Given the description of an element on the screen output the (x, y) to click on. 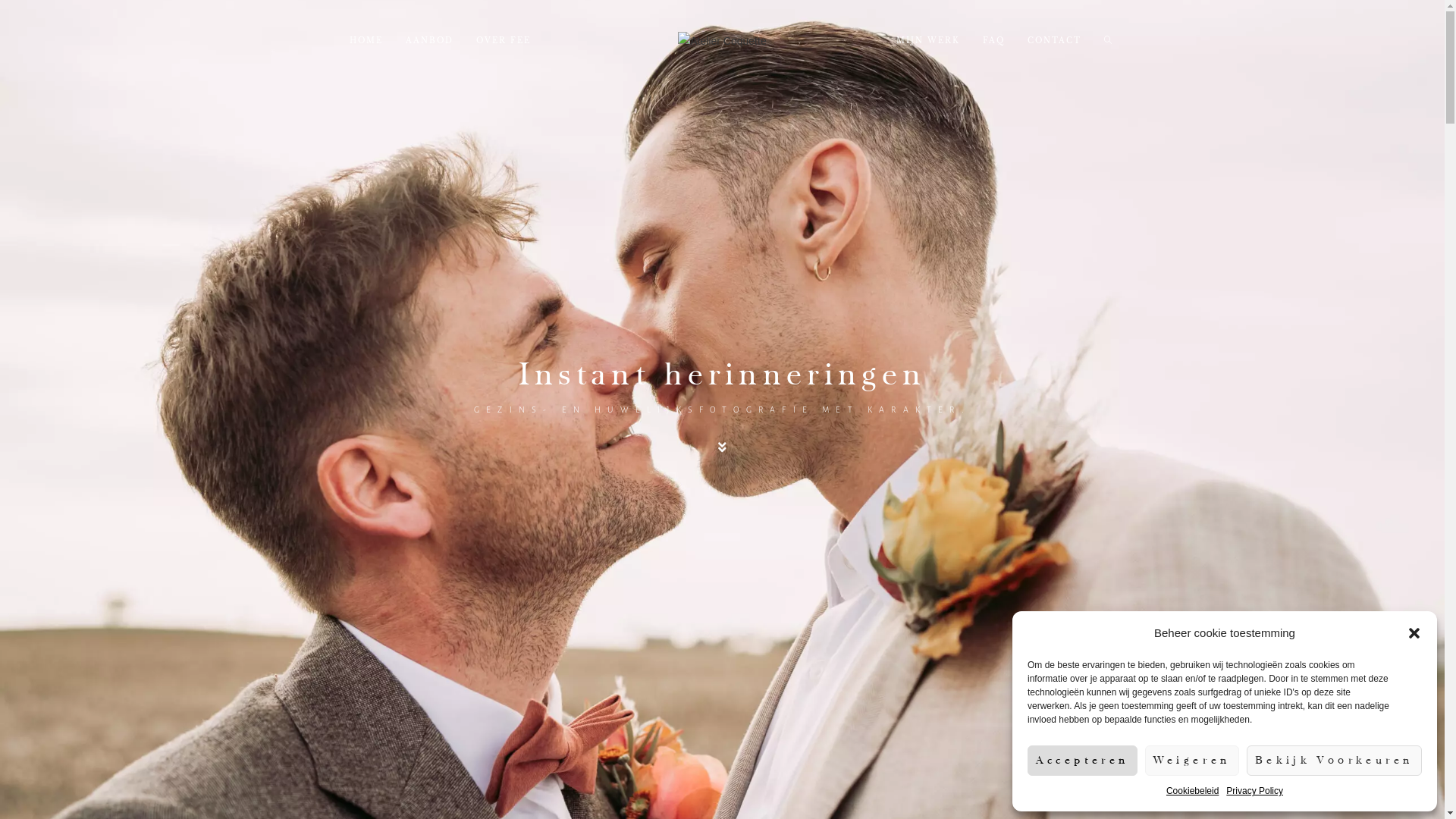
Accepteren Element type: text (1082, 760)
AANBOD Element type: text (429, 40)
Weigeren Element type: text (1192, 760)
CONTACT Element type: text (1054, 40)
Bekijk Voorkeuren Element type: text (1333, 760)
HOME Element type: text (366, 40)
FAQ Element type: text (992, 40)
MIJN WERK Element type: text (927, 40)
Cookiebeleid Element type: text (1192, 791)
OVER FEE Element type: text (503, 40)
Privacy Policy Element type: text (1254, 791)
